Given the description of an element on the screen output the (x, y) to click on. 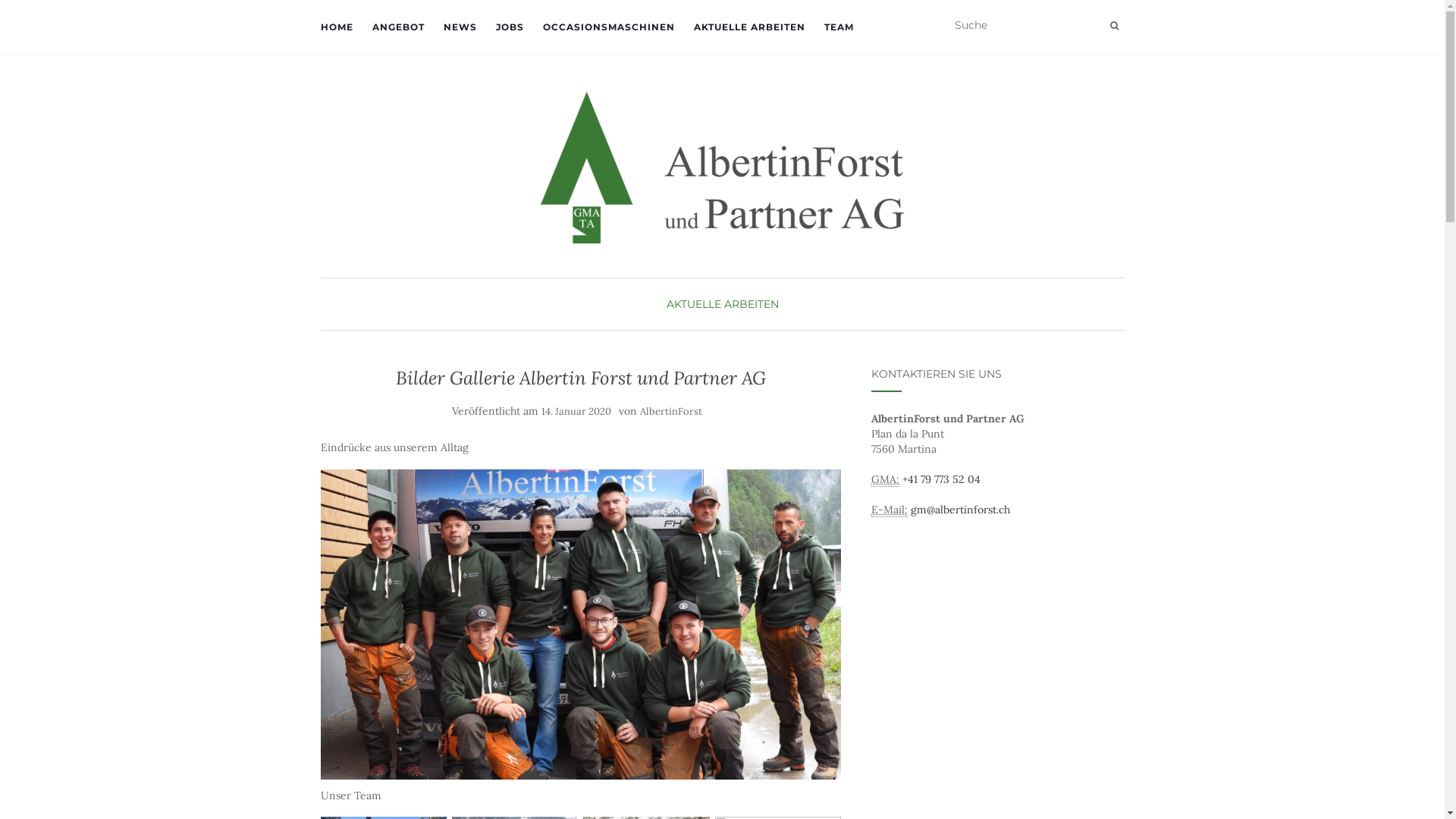
AlbertinForst Element type: text (671, 410)
+41 79 773 52 04 Element type: text (941, 479)
AKTUELLE ARBEITEN Element type: text (748, 26)
ANGEBOT Element type: text (397, 26)
NEWS Element type: text (459, 26)
OCCASIONSMASCHINEN Element type: text (608, 26)
gm@albertinforst.ch Element type: text (960, 509)
AKTUELLE ARBEITEN Element type: text (721, 303)
Suche Element type: text (1114, 25)
JOBS Element type: text (509, 26)
14. Januar 2020 Element type: text (576, 410)
TEAM Element type: text (838, 26)
HOME Element type: text (336, 26)
